Given the description of an element on the screen output the (x, y) to click on. 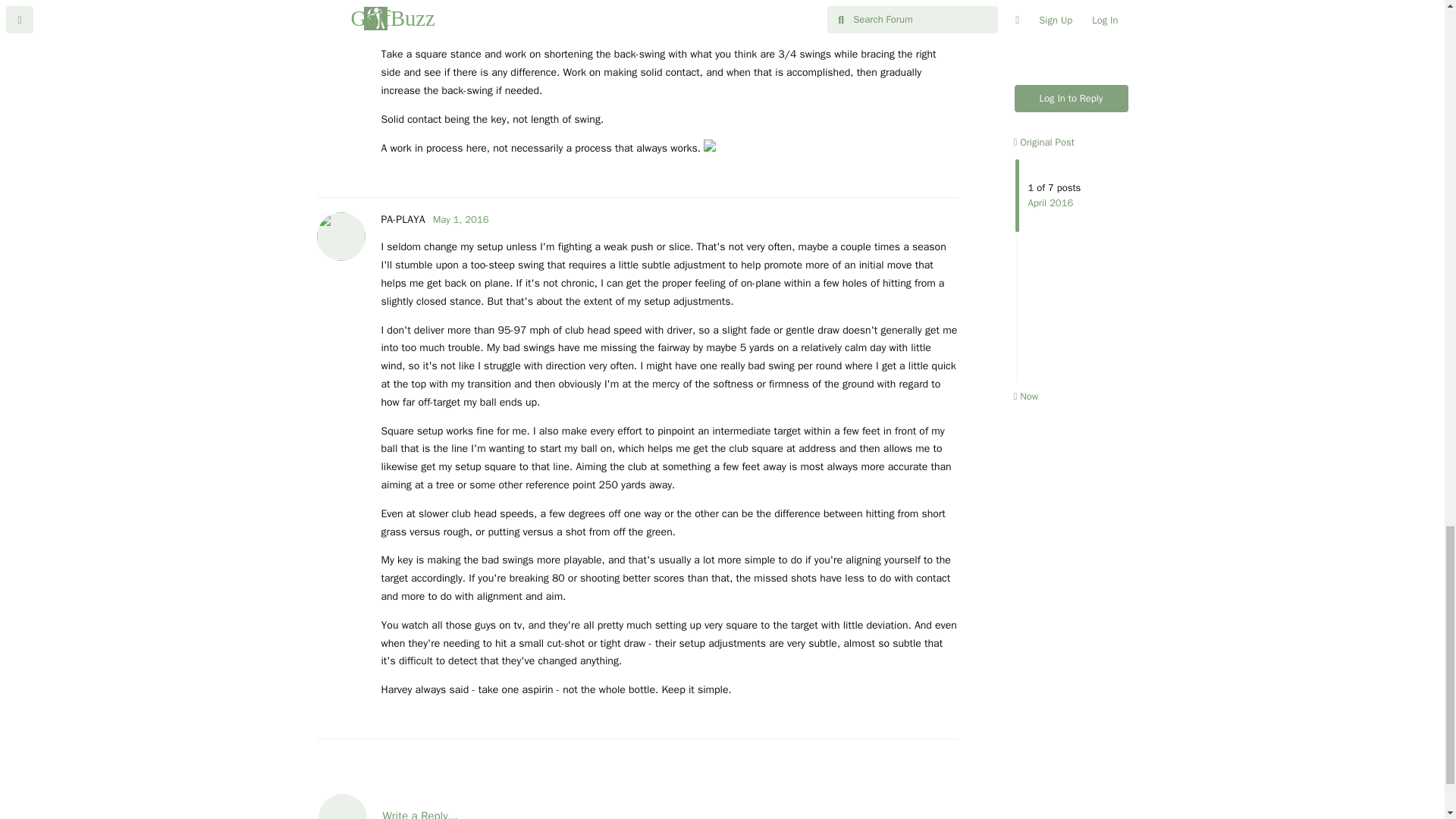
May 1, 2016 (460, 219)
Sunday, May 1, 2016 12:01 PM (460, 219)
PA-PLAYA (402, 219)
